Given the description of an element on the screen output the (x, y) to click on. 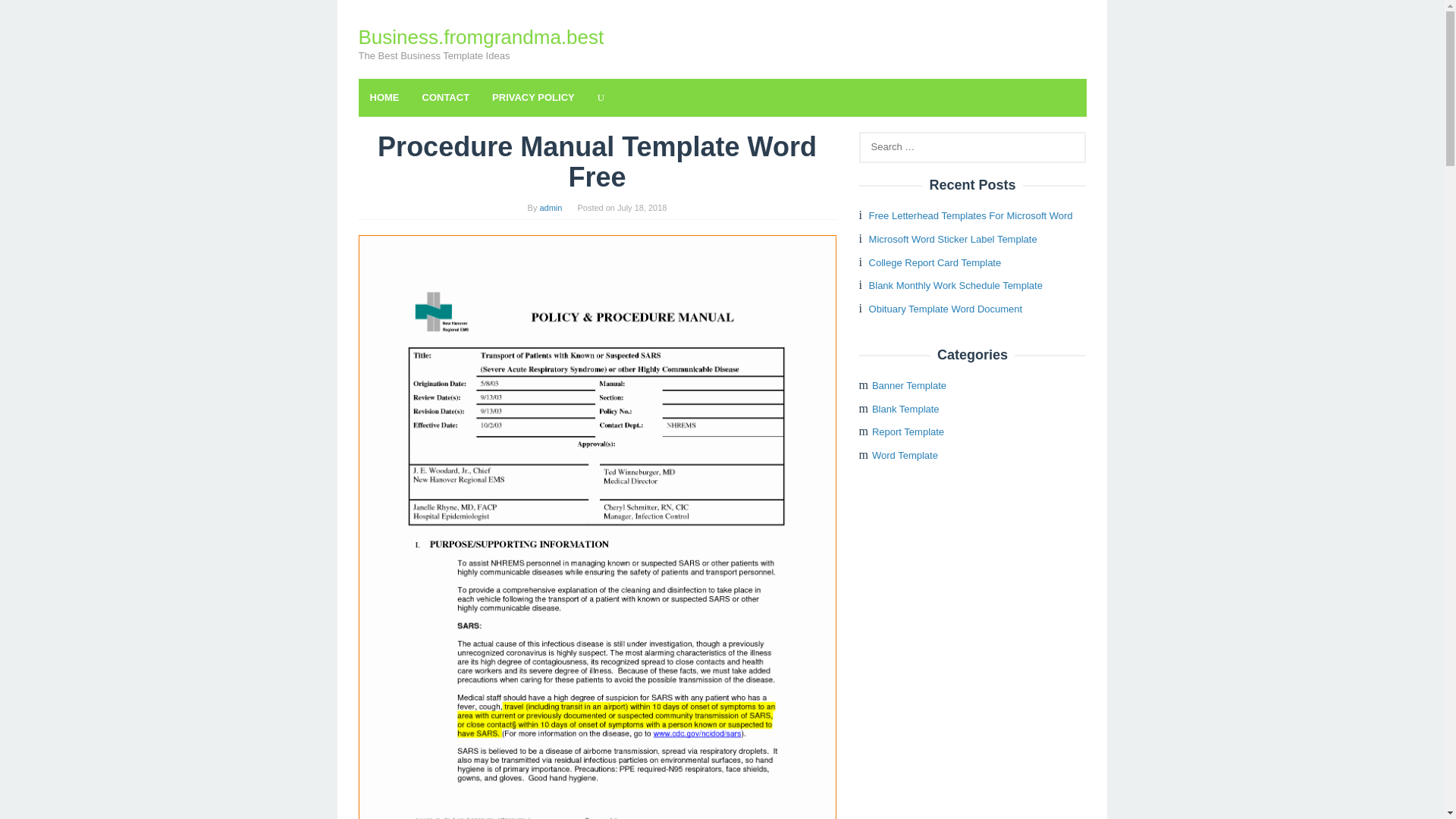
Business.fromgrandma.best (481, 36)
admin (550, 207)
CONTACT (445, 97)
PRIVACY POLICY (533, 97)
HOME (384, 97)
Permalink to: admin (550, 207)
Business.fromgrandma.best (481, 36)
